Given the description of an element on the screen output the (x, y) to click on. 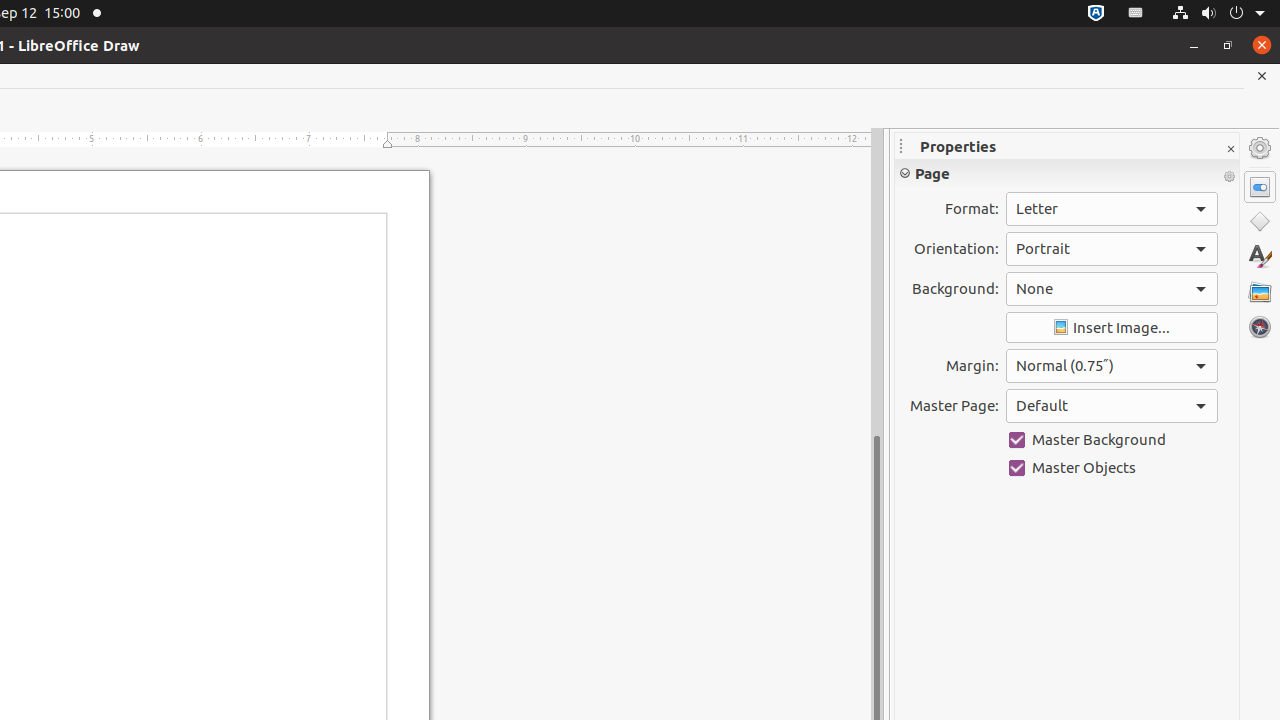
Shapes Element type: radio-button (1260, 222)
Navigator Element type: radio-button (1260, 327)
System Element type: menu (1218, 13)
More Options Element type: push-button (1229, 177)
Gallery Element type: radio-button (1260, 292)
